Given the description of an element on the screen output the (x, y) to click on. 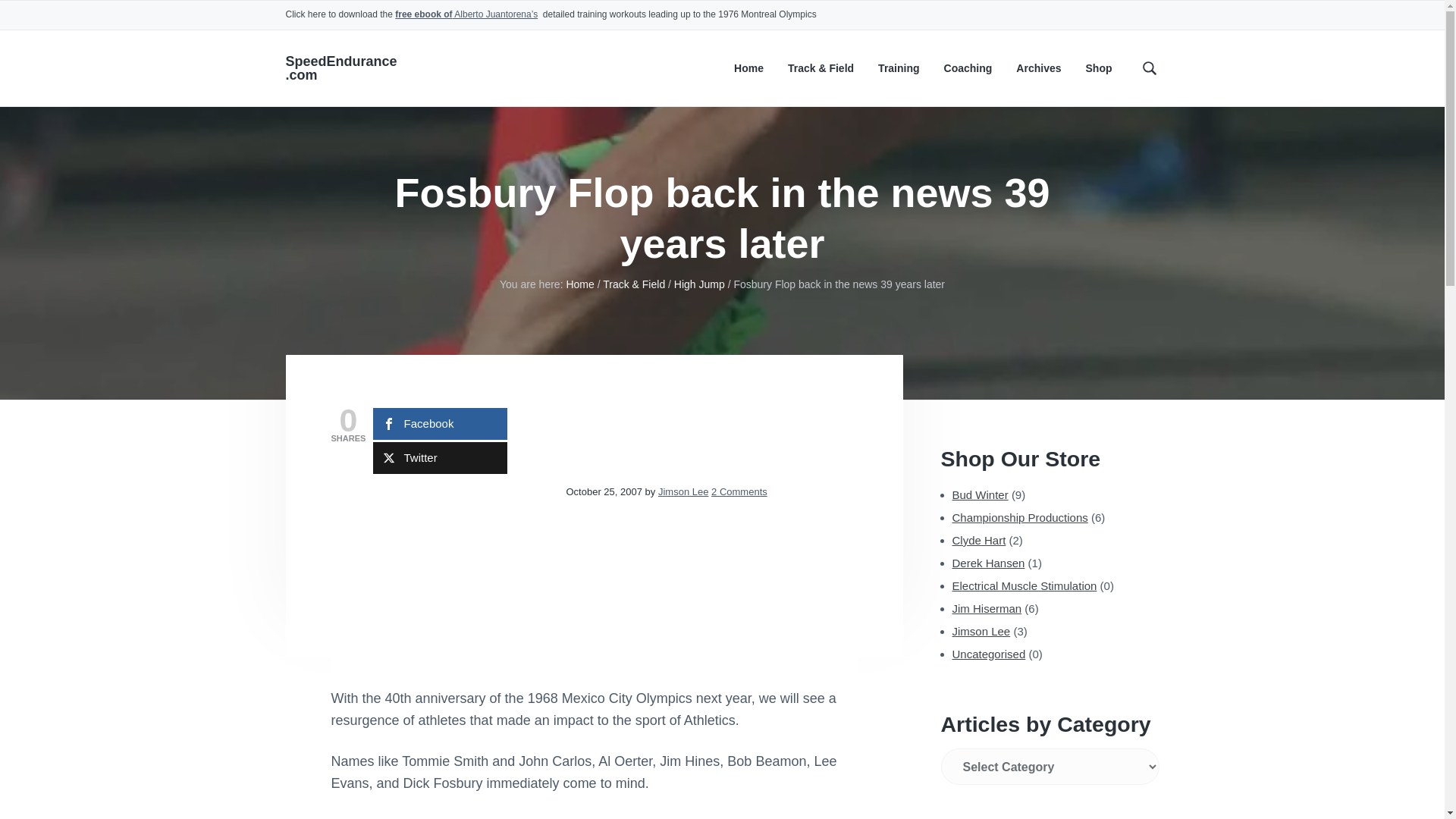
SpeedEndurance.com (340, 68)
Home (747, 67)
Coaching (967, 67)
Home (580, 284)
Training (897, 67)
Search (60, 18)
Shop (1099, 67)
Archives (1038, 67)
Advertisement (443, 585)
